Given the description of an element on the screen output the (x, y) to click on. 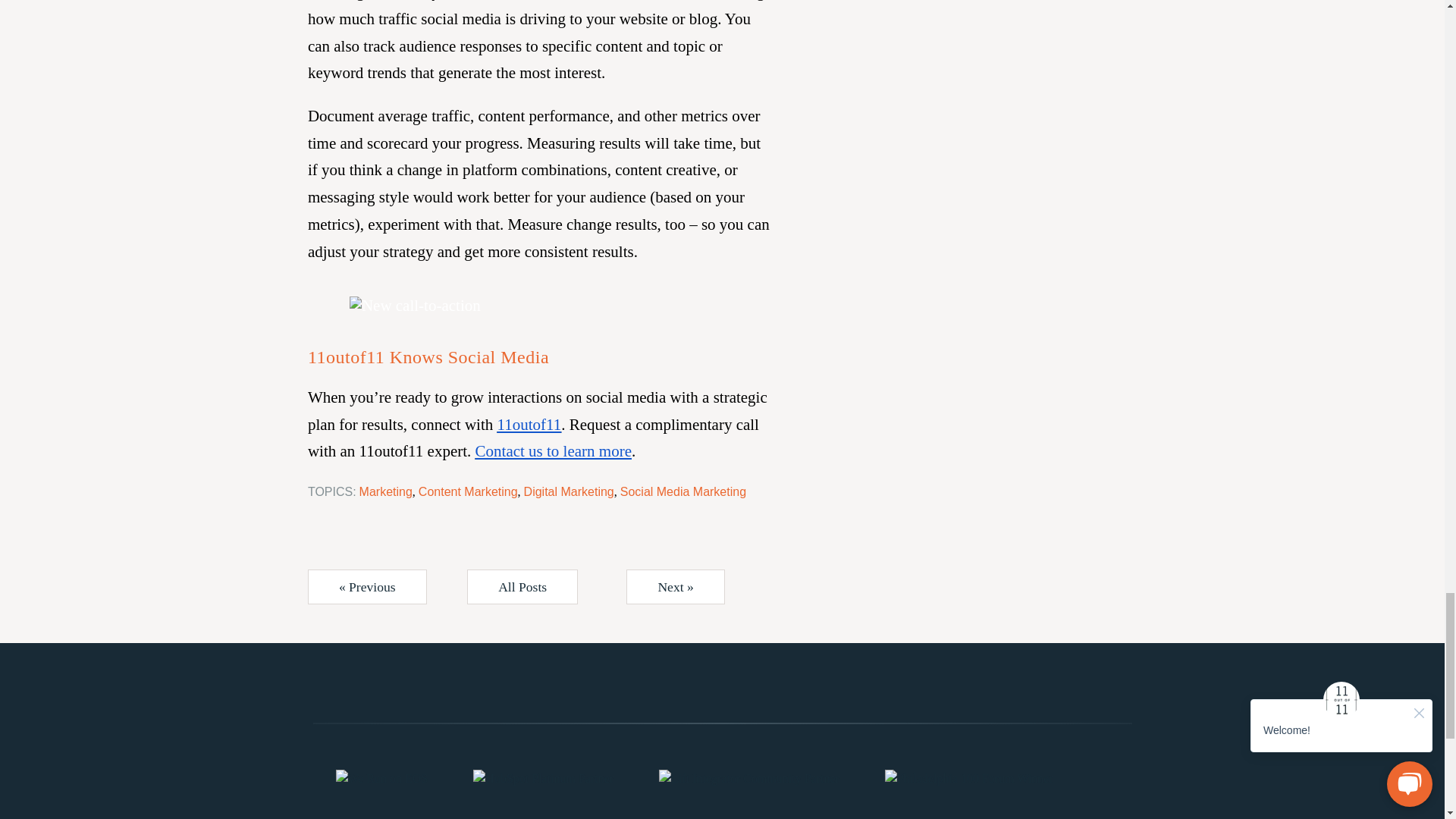
Content Marketing (468, 491)
Digital Marketing (569, 491)
11outof11 (529, 424)
All Posts (522, 586)
Contact us to learn more (553, 451)
Marketing (385, 491)
Social Media Marketing (682, 491)
